Given the description of an element on the screen output the (x, y) to click on. 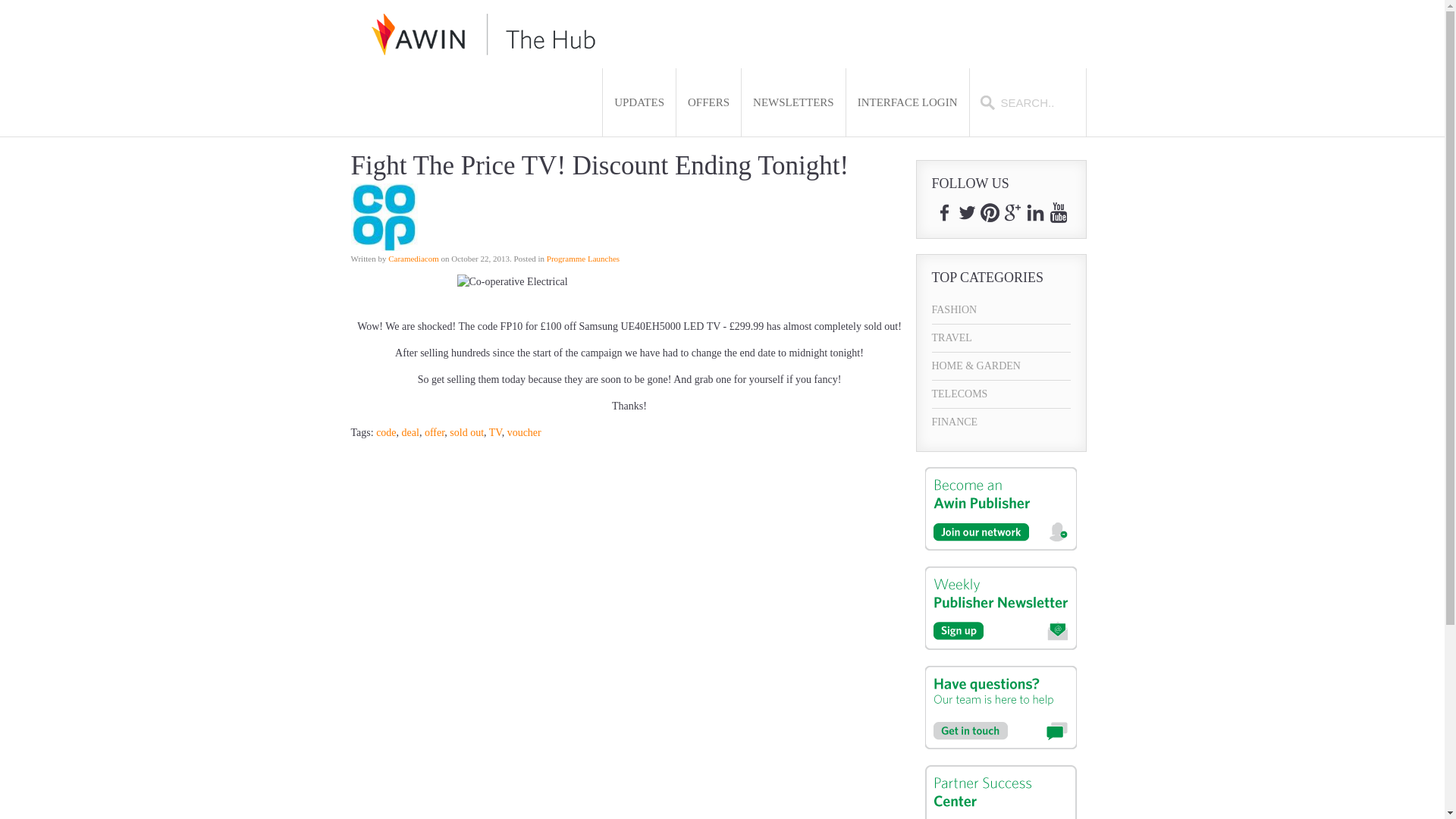
NEWSLETTERS (793, 102)
INTERFACE LOGIN (907, 102)
offer (434, 432)
OFFERS (708, 102)
UPDATES (639, 102)
sold out (466, 432)
Caramediacom (413, 257)
FINANCE (1000, 421)
Caramediacom (413, 257)
Reset (3, 2)
Programme Launches (583, 257)
TRAVEL (1000, 338)
FASHION (1000, 309)
deal (410, 432)
voucher (523, 432)
